Given the description of an element on the screen output the (x, y) to click on. 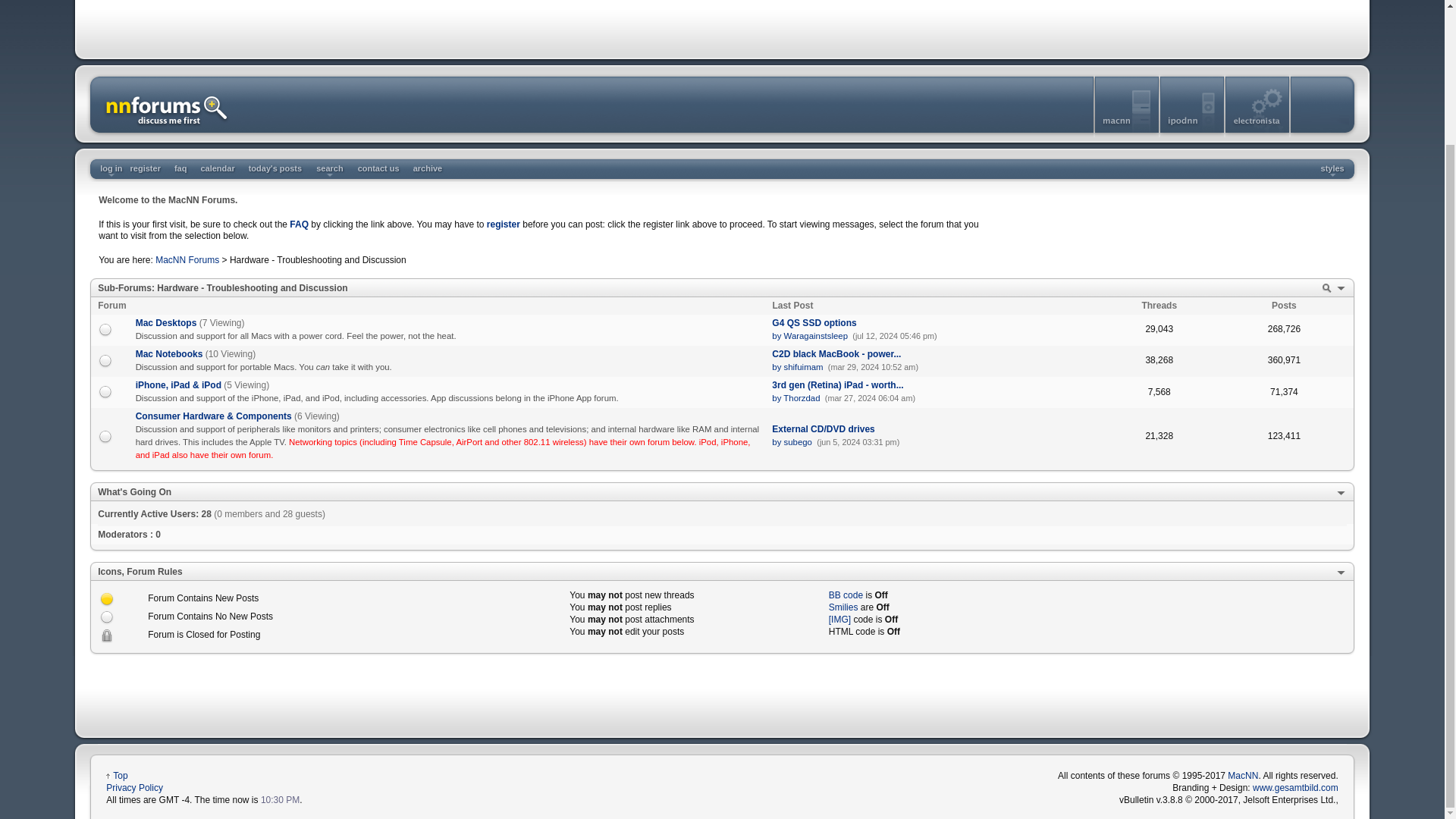
MacNN Forums (187, 259)
visit ipodnn.com (1192, 133)
visit macnn.com (1126, 133)
Advertisement (1168, 229)
search (328, 168)
Waragainstsleep (815, 335)
register (145, 168)
FAQ (298, 223)
Contains New Posts (107, 598)
C2D black MacBook - power... (836, 353)
